Given the description of an element on the screen output the (x, y) to click on. 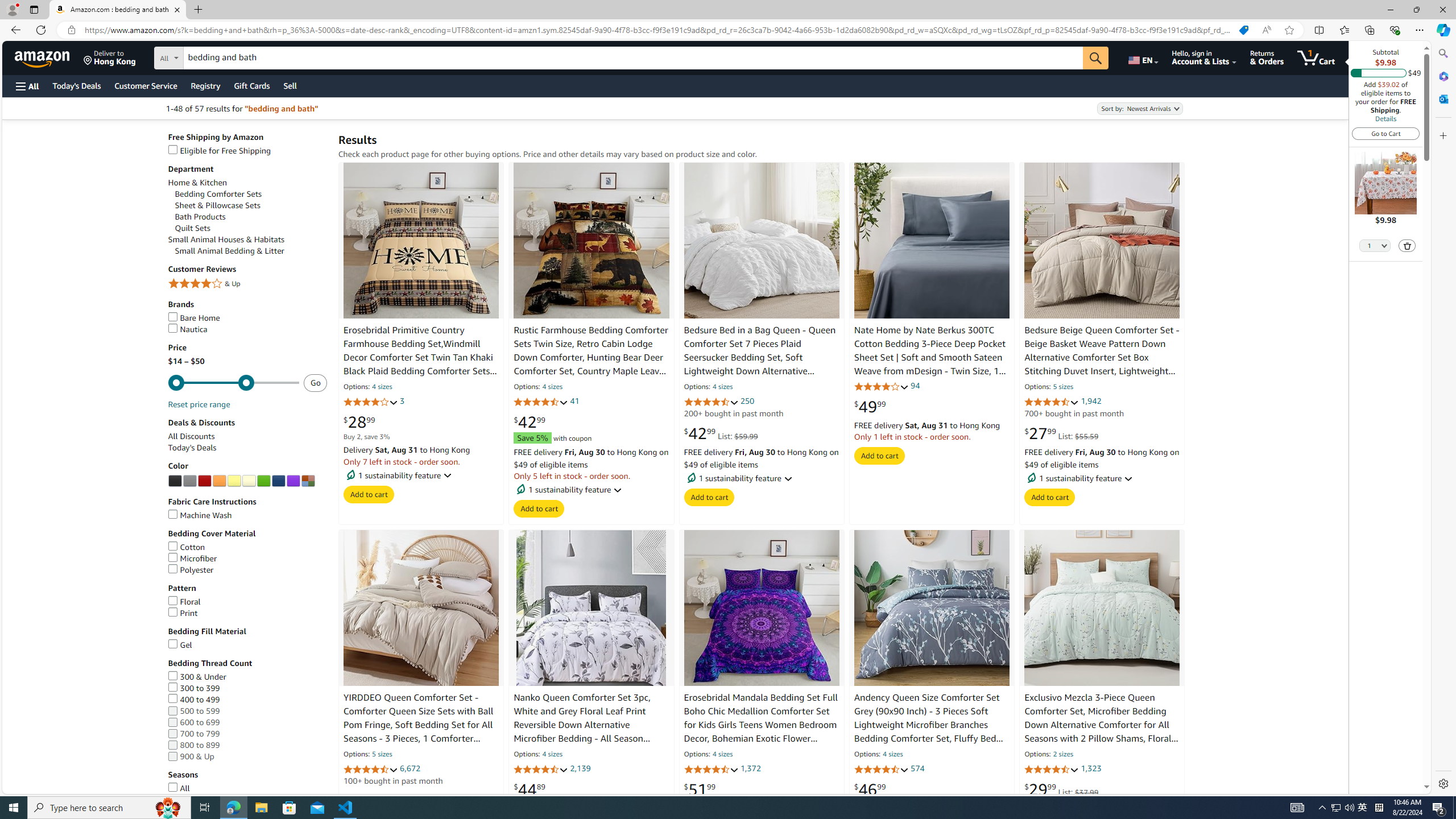
2 sizes (1062, 754)
Purple (292, 481)
Skip to main search results (50, 788)
1,372 (750, 768)
AutomationID: p_n_feature_twenty_browse-bin/3254108011 (263, 481)
All Discounts (247, 436)
Ivory (248, 481)
Small Animal Houses & Habitats (226, 239)
Print (182, 613)
Open Menu (26, 86)
400 to 499 (247, 699)
Gel (247, 645)
